Given the description of an element on the screen output the (x, y) to click on. 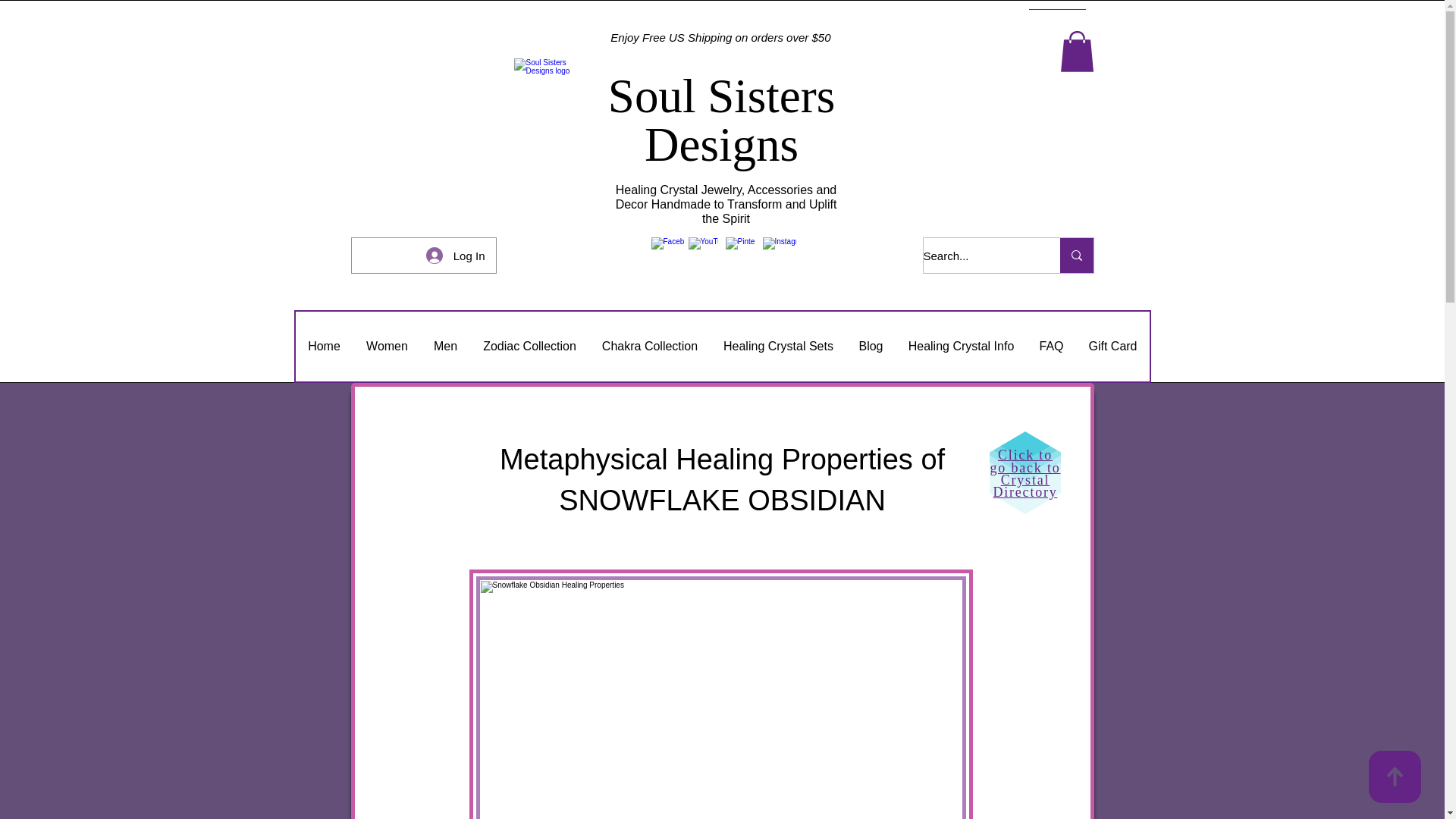
Log In (455, 255)
Zodiac Collection (529, 346)
Chakra Collection (649, 346)
Soul Sisters Designs (721, 119)
Gift Card (1111, 346)
Click to go back to Crystal Directory (1025, 473)
Pin to Pinterest (512, 590)
